Given the description of an element on the screen output the (x, y) to click on. 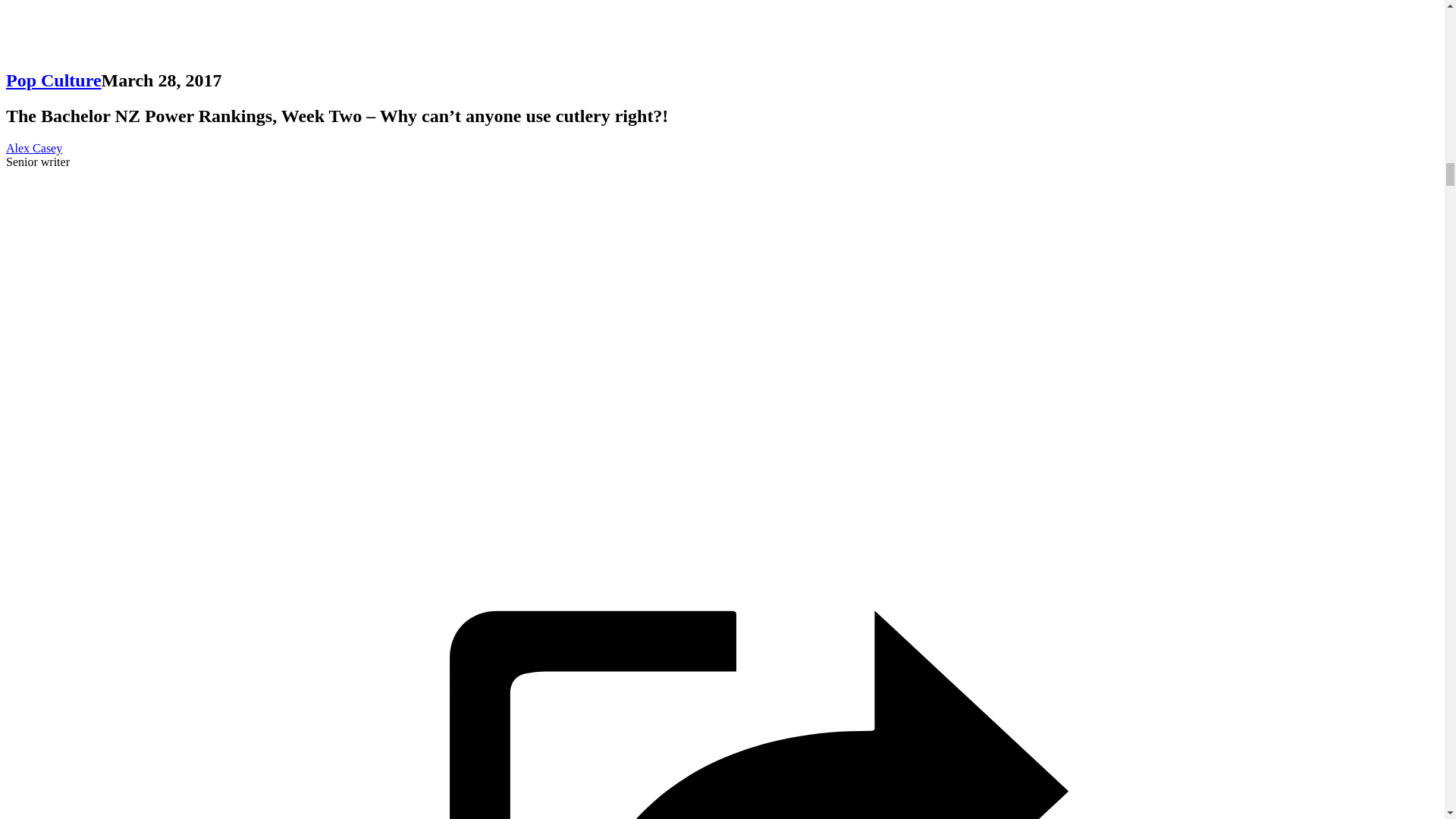
Pop Culture (53, 80)
Alex Casey (33, 147)
view all posts by Alex Casey (33, 147)
